Given the description of an element on the screen output the (x, y) to click on. 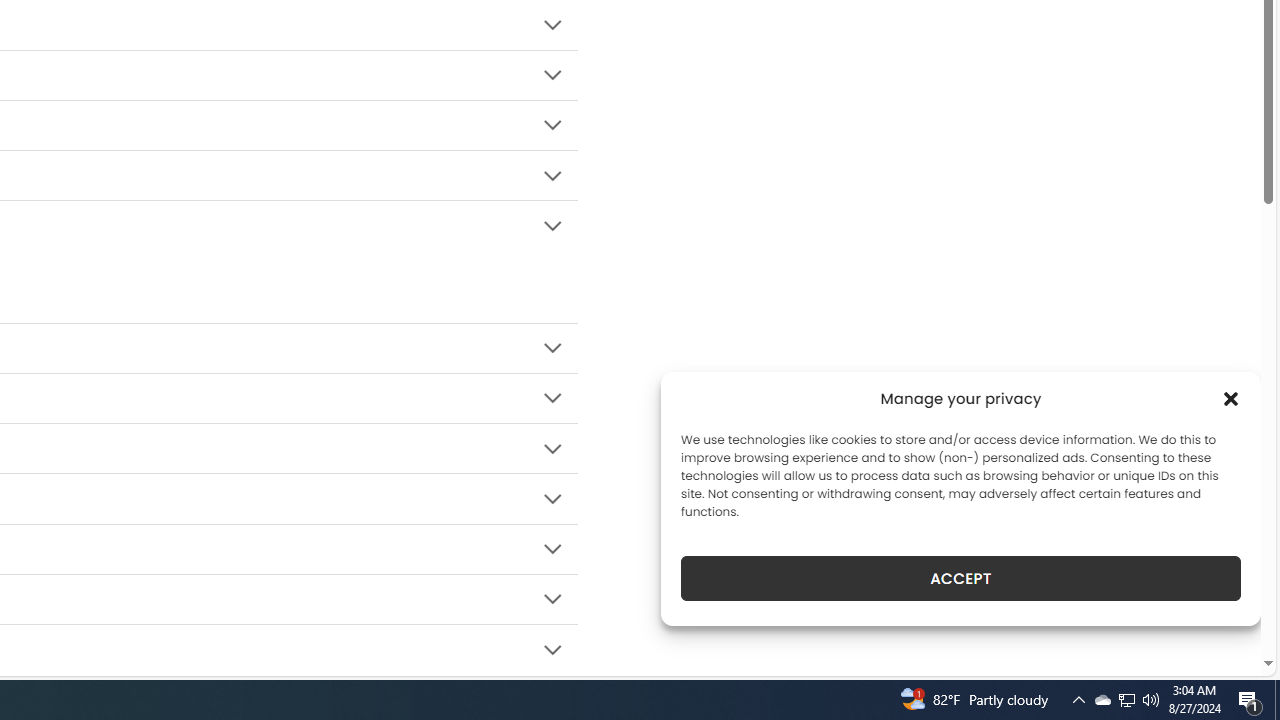
ACCEPT (960, 578)
Class: cmplz-close (1231, 398)
